Given the description of an element on the screen output the (x, y) to click on. 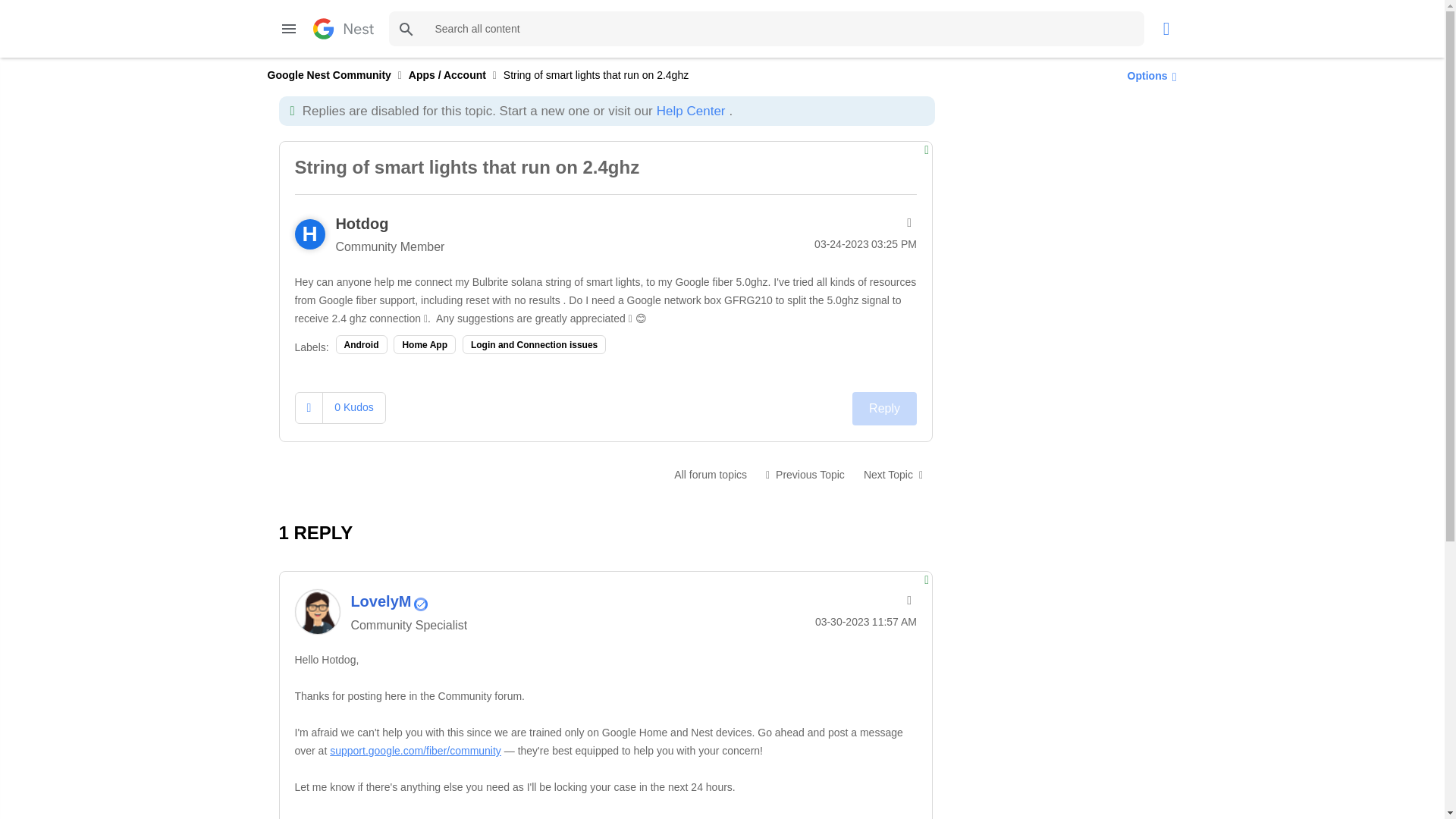
The total number of kudos this post has received. (353, 407)
Google Nest Community (342, 28)
Home App (424, 343)
Community Specialist (420, 603)
Android (361, 343)
Menu (287, 28)
Show option menu (1147, 75)
Google Nest Community (328, 74)
Search (405, 29)
